Given the description of an element on the screen output the (x, y) to click on. 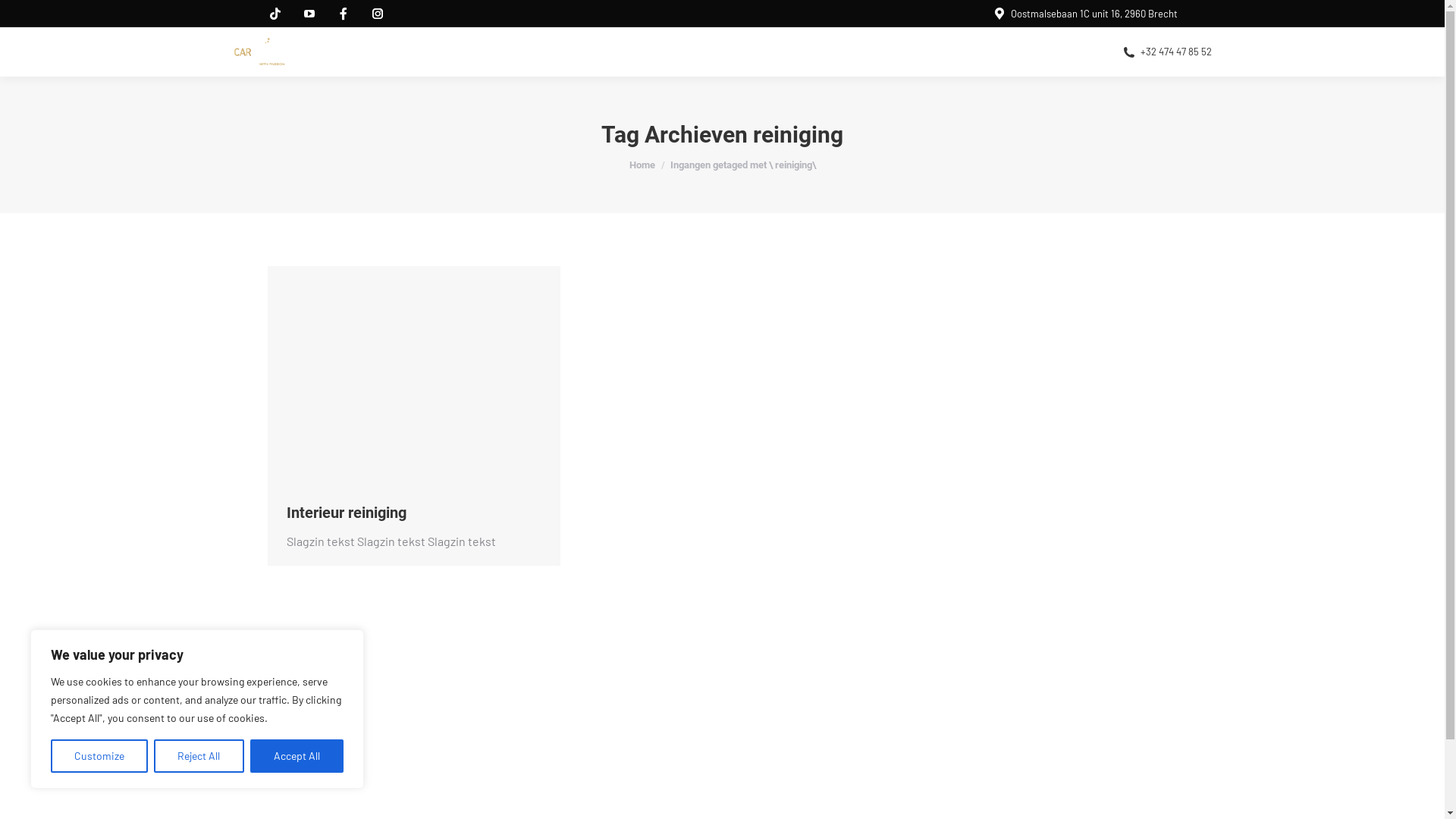
Customize Element type: text (98, 755)
Home Element type: text (642, 164)
Reject All Element type: text (198, 755)
Diensten Element type: text (535, 51)
+32 474 47 85 52 Element type: text (1165, 51)
Offerte aanvragen / contact Element type: text (859, 51)
Interieur reiniging Element type: text (346, 512)
Home Element type: text (461, 51)
Paint protection film (PPF) Element type: text (667, 51)
Accept All Element type: text (296, 755)
